Given the description of an element on the screen output the (x, y) to click on. 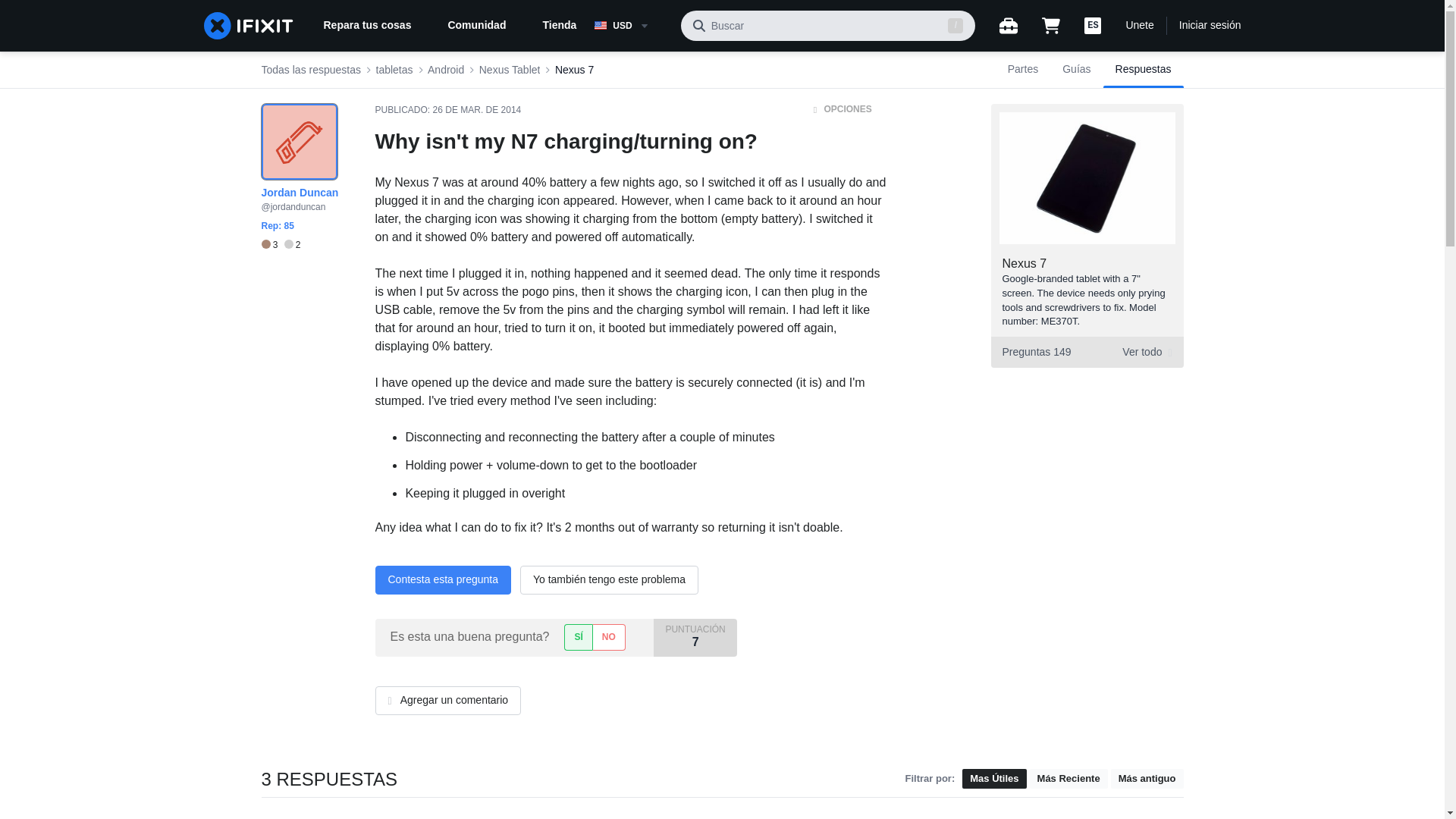
tabletas (394, 69)
Nexus 7 (574, 69)
Contesta esta pregunta (442, 579)
Wed, 26 Mar 2014 15:04:10 -0700 (476, 109)
PUBLICADO: 26 DE MAR. DE 2014 (447, 109)
Nexus Tablet (509, 69)
Android (446, 69)
3 2 (279, 245)
Todas las respuestas (310, 69)
USD (631, 25)
